Given the description of an element on the screen output the (x, y) to click on. 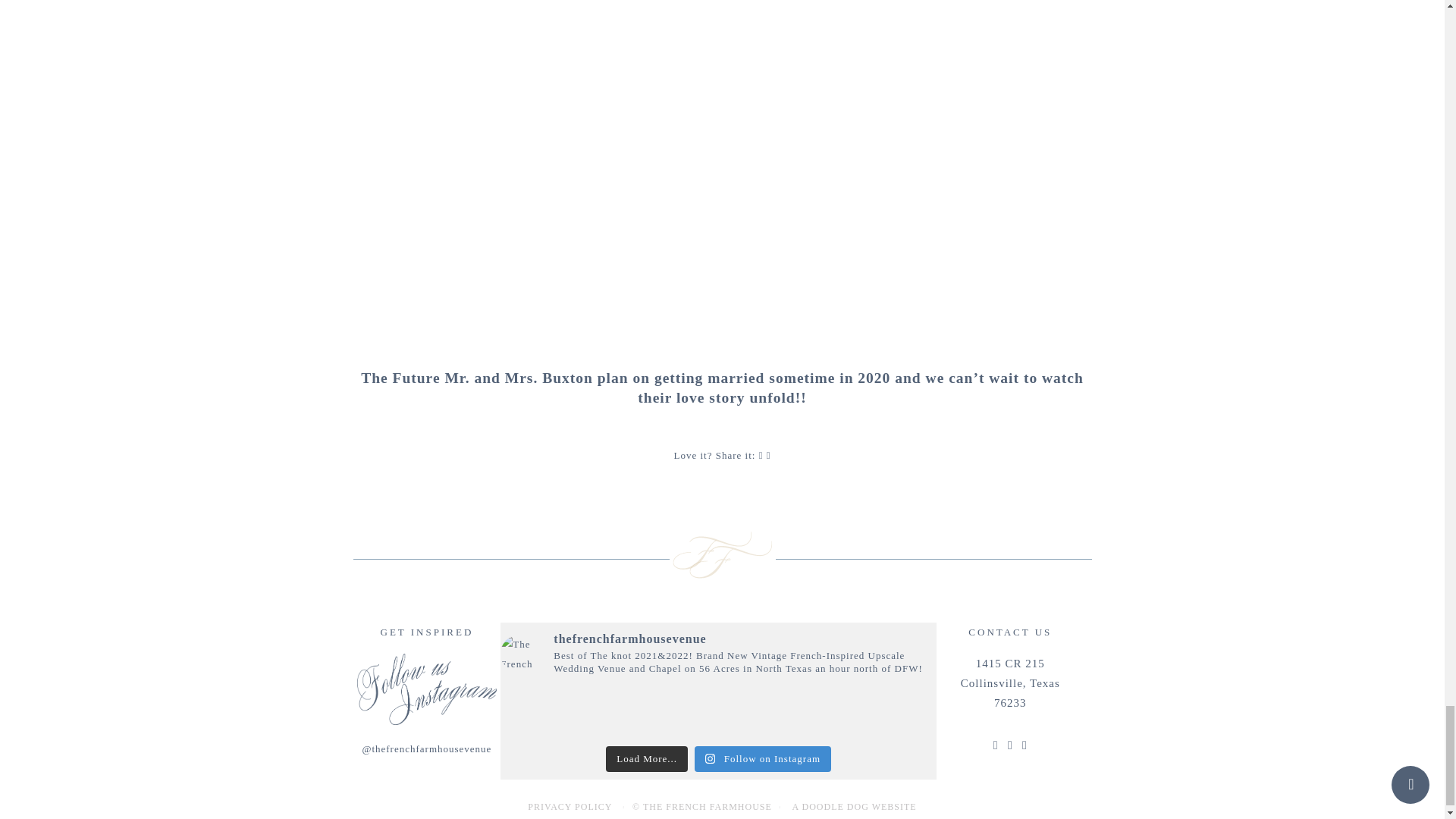
A DOODLE DOG WEBSITE (854, 806)
Follow on Instagram (762, 759)
Load More... (646, 759)
PRIVACY POLICY (569, 806)
